Given the description of an element on the screen output the (x, y) to click on. 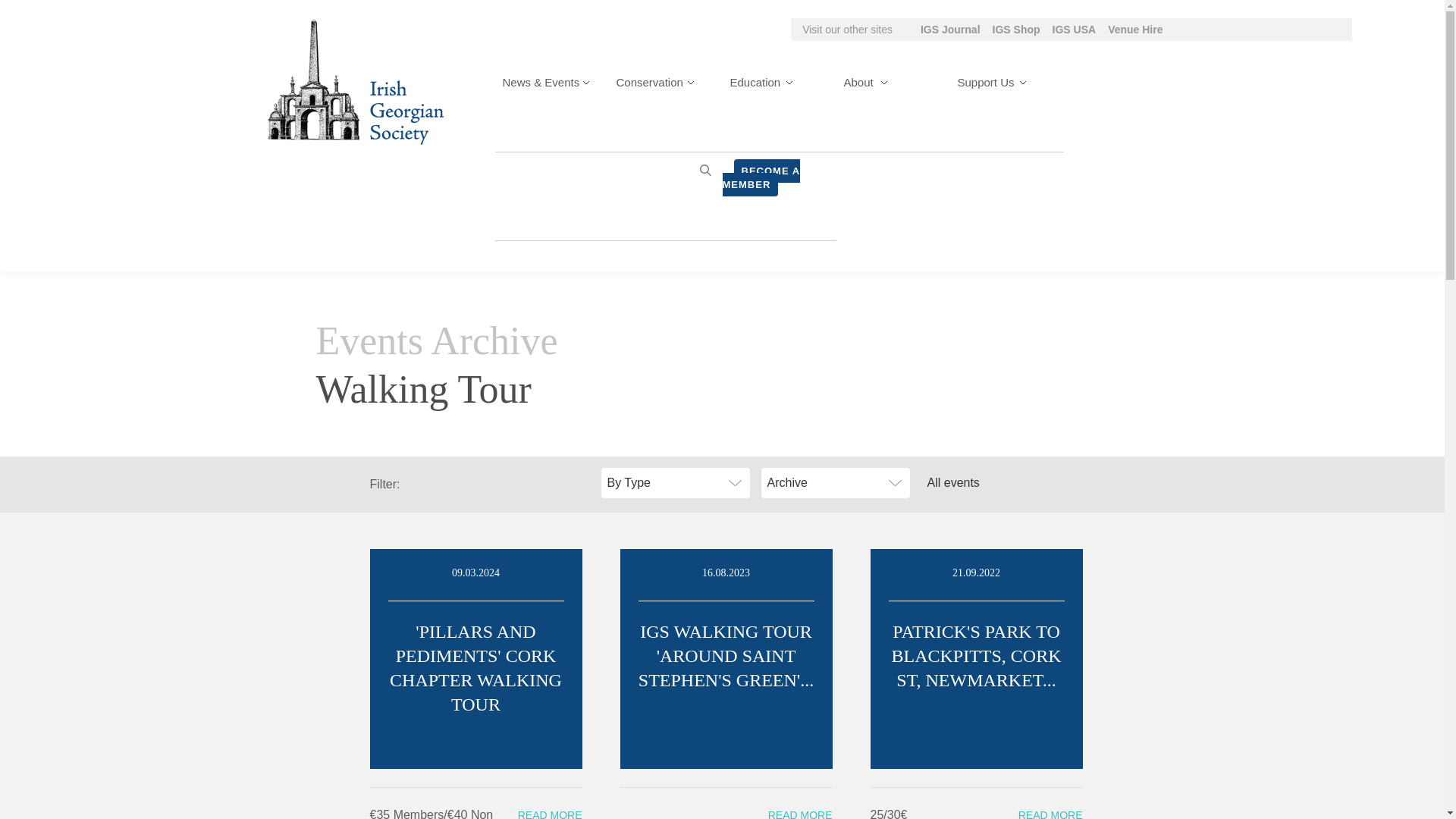
Irish Georgian Society (354, 81)
BECOME A MEMBER (760, 177)
All events (994, 482)
IGS Shop (1016, 29)
IGS Journal (949, 29)
Venue Hire (1134, 29)
Archive (835, 482)
IGS USA (1074, 29)
By Type (674, 482)
